Given the description of an element on the screen output the (x, y) to click on. 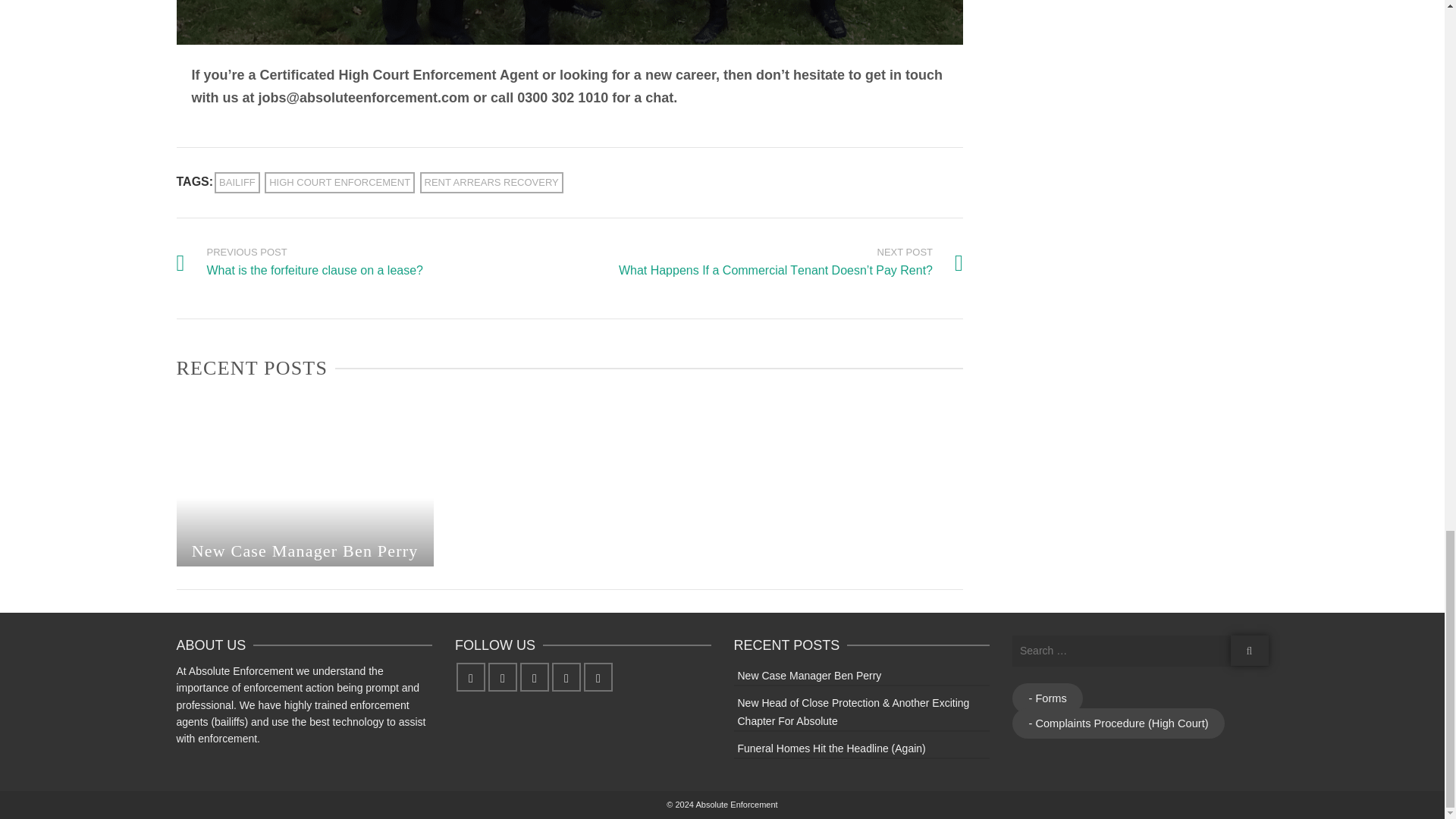
BAILIFF (237, 182)
New Case Manager Ben Perry (299, 262)
HIGH COURT ENFORCEMENT (303, 535)
RENT ARREARS RECOVERY (339, 182)
